Given the description of an element on the screen output the (x, y) to click on. 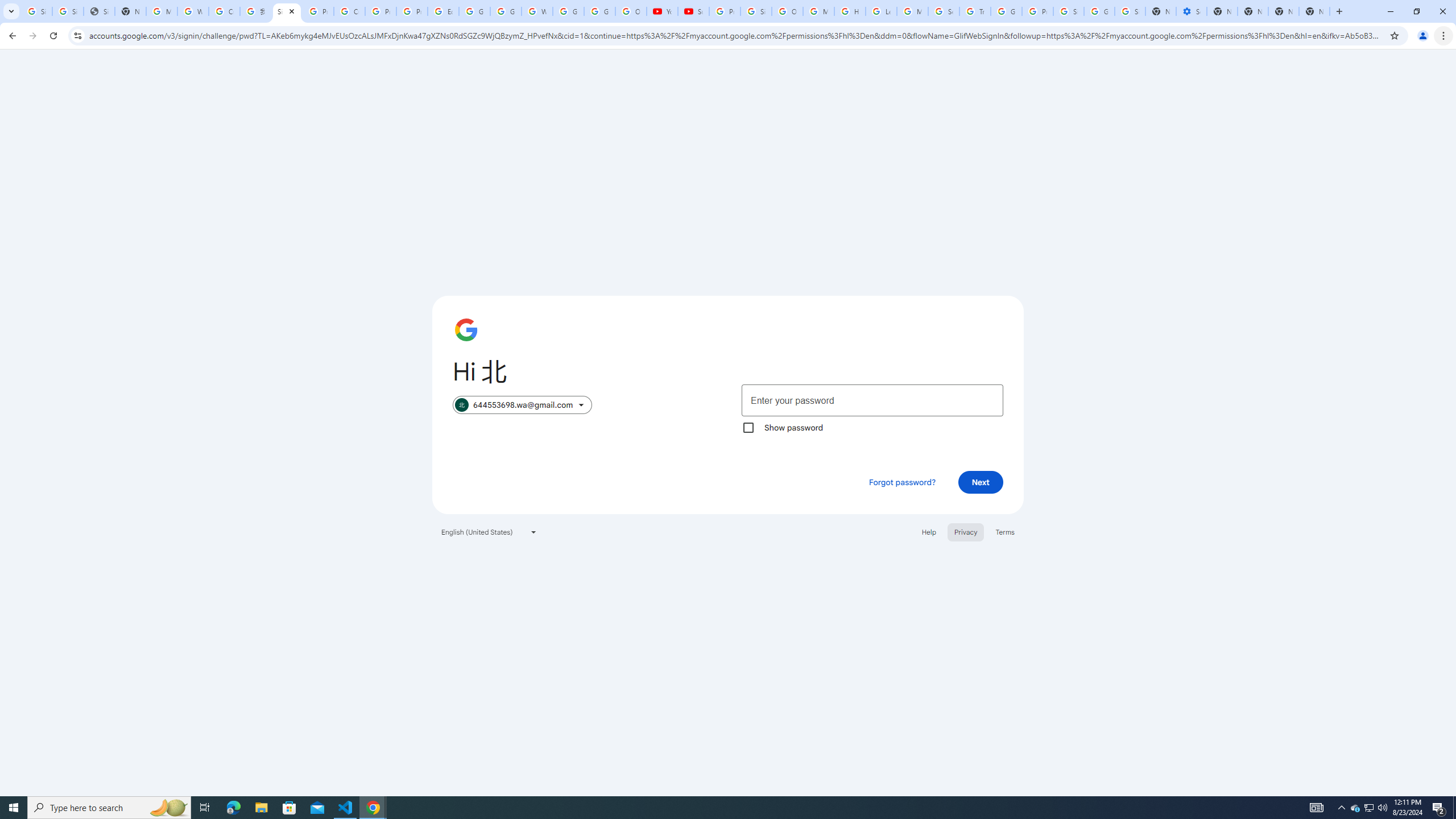
Create your Google Account (223, 11)
Search our Doodle Library Collection - Google Doodles (943, 11)
Sign in - Google Accounts (286, 11)
Welcome to My Activity (536, 11)
